Given the description of an element on the screen output the (x, y) to click on. 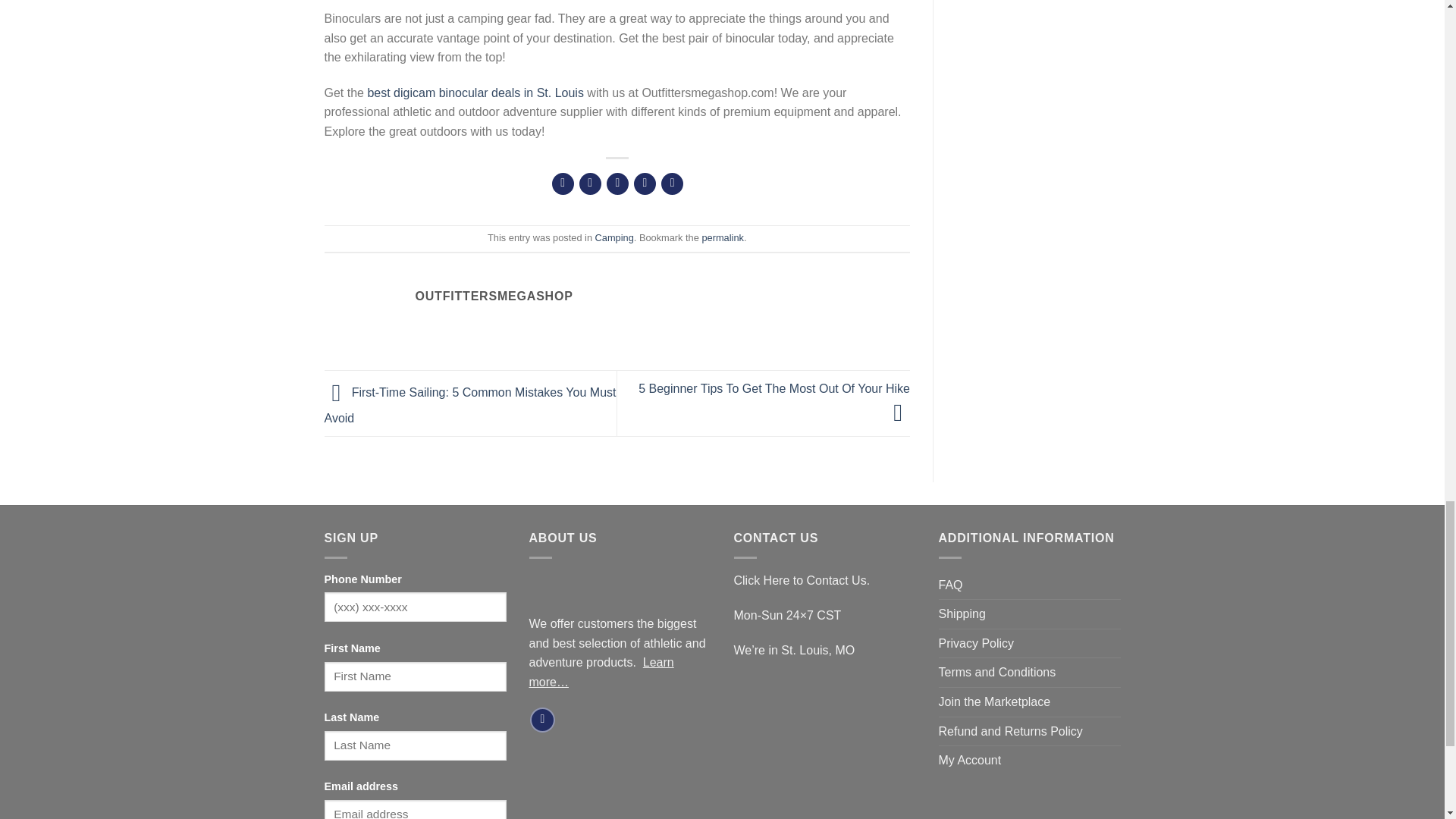
5 Beginner Tips To Get The Most Out Of Your Hike (774, 400)
First-Time Sailing: 5 Common Mistakes You Must Avoid (469, 405)
Email to a Friend (617, 183)
Pin on Pinterest (644, 183)
best digicam binocular deals in St. Louis (474, 92)
Share on Facebook (562, 183)
permalink (721, 237)
Share on Twitter (590, 183)
Camping (614, 237)
